Given the description of an element on the screen output the (x, y) to click on. 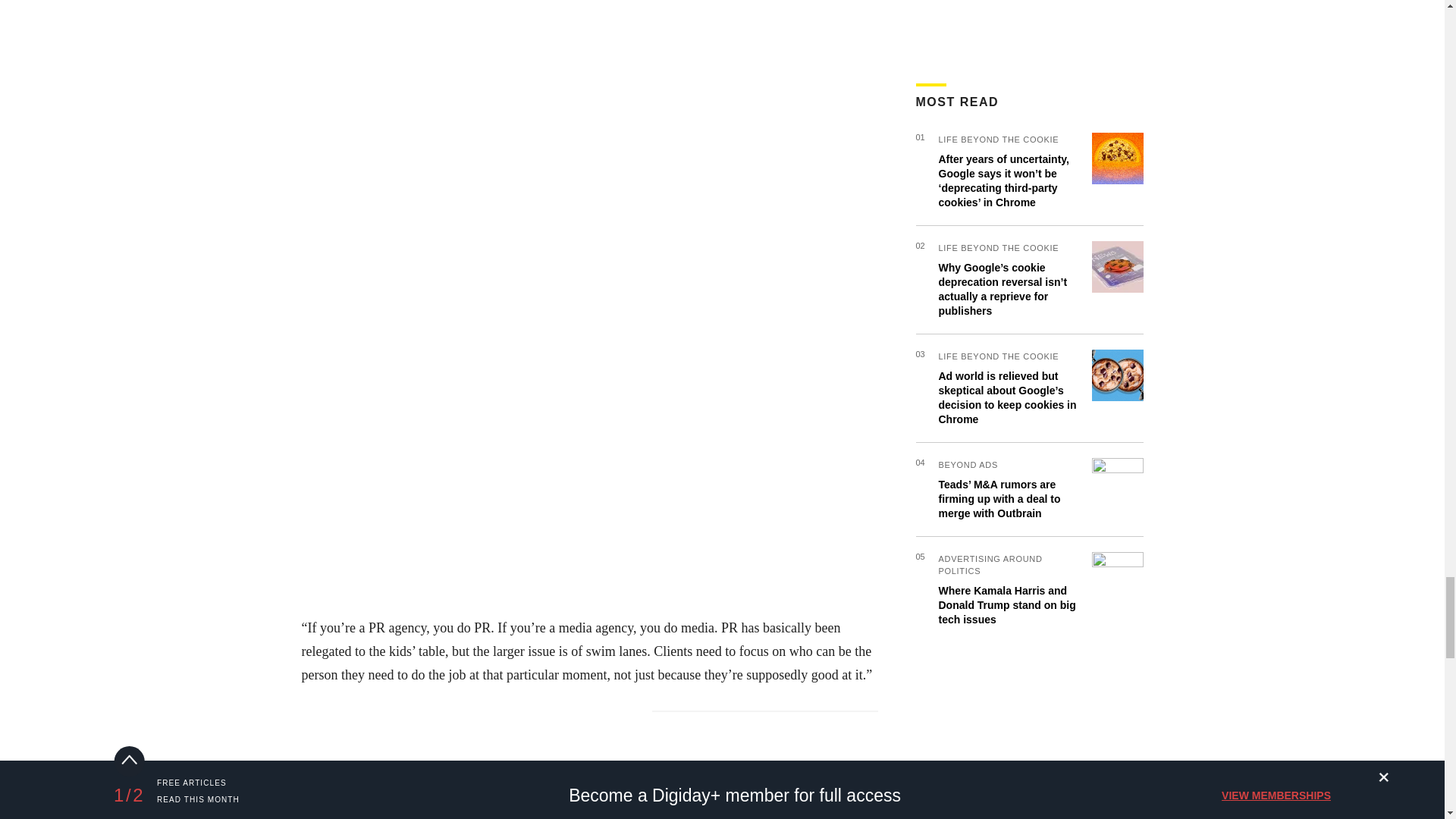
Share on Reddit (440, 720)
Share on Facebook (316, 720)
Share on Twitter (357, 720)
Share on LinkedIn (398, 720)
